Given the description of an element on the screen output the (x, y) to click on. 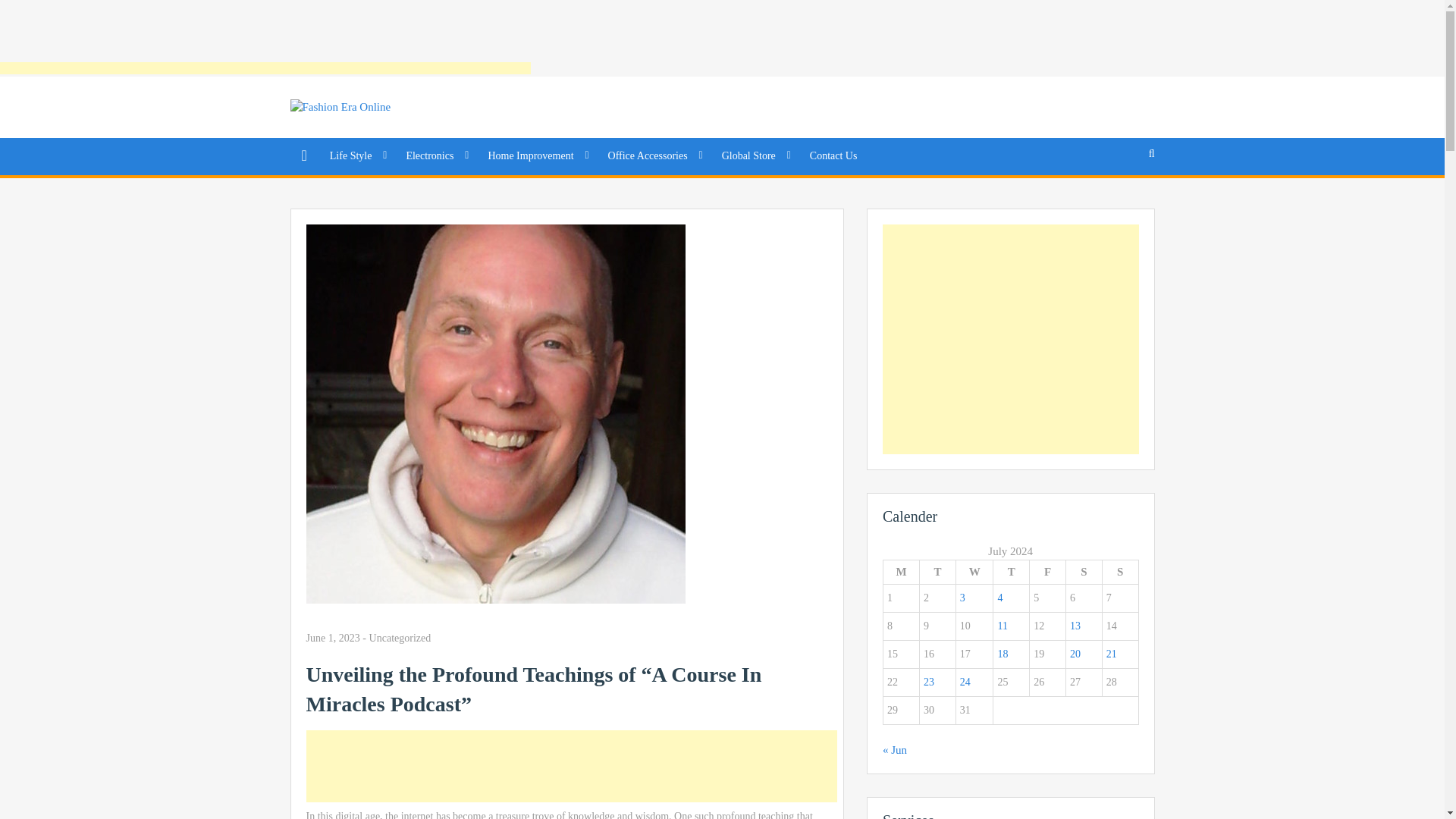
Monday (900, 571)
Contact Us (833, 156)
Office Accessories (653, 156)
Sunday (1120, 571)
Wednesday (973, 571)
Global Store (753, 156)
3 (962, 597)
June 1, 2023 (332, 638)
Saturday (1083, 571)
Life Style (356, 156)
Uncategorized (399, 637)
Thursday (1010, 571)
Electronics (435, 156)
Friday (1047, 571)
Home Improvement (535, 156)
